Given the description of an element on the screen output the (x, y) to click on. 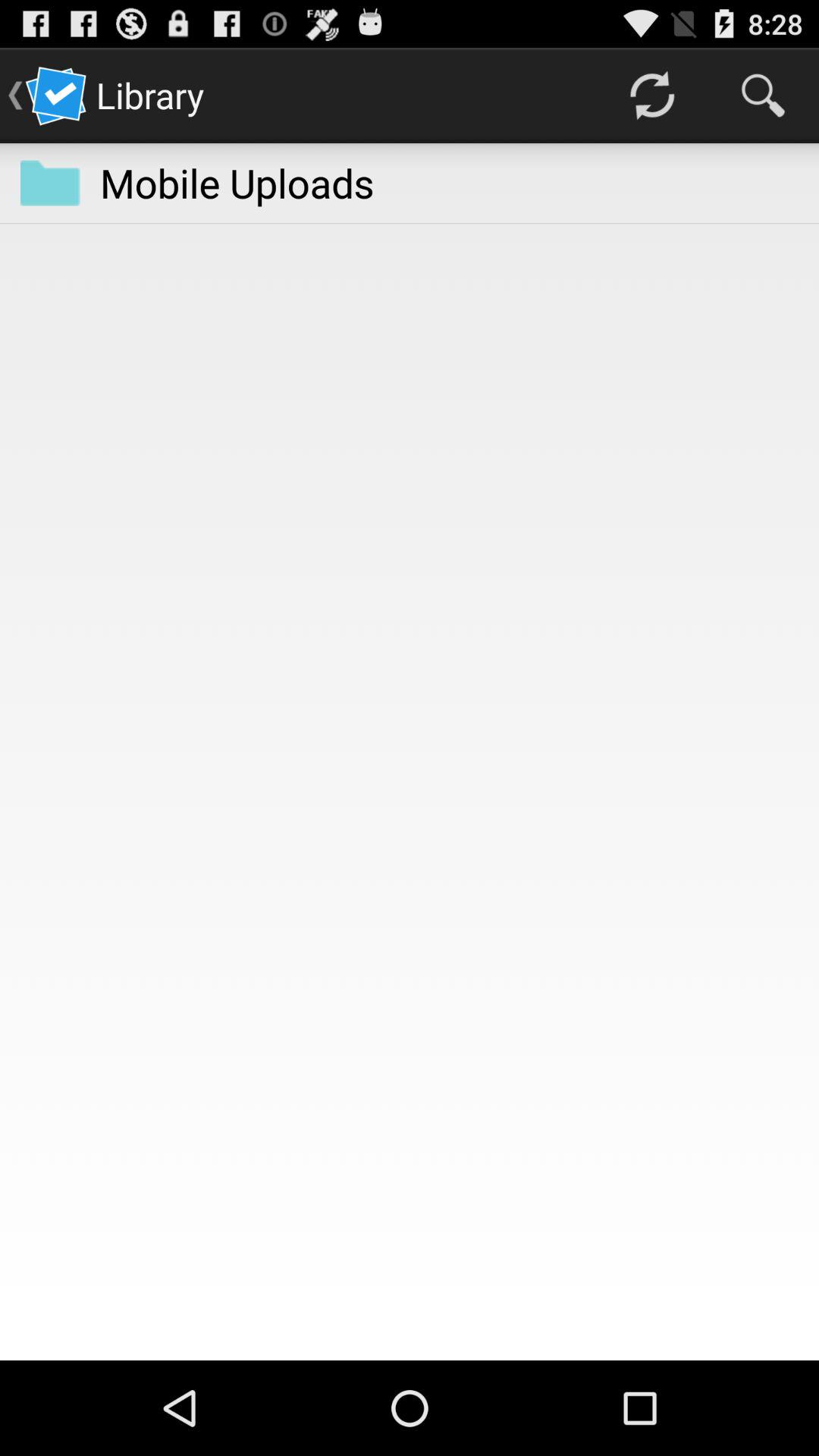
flip until mobile uploads item (237, 182)
